Given the description of an element on the screen output the (x, y) to click on. 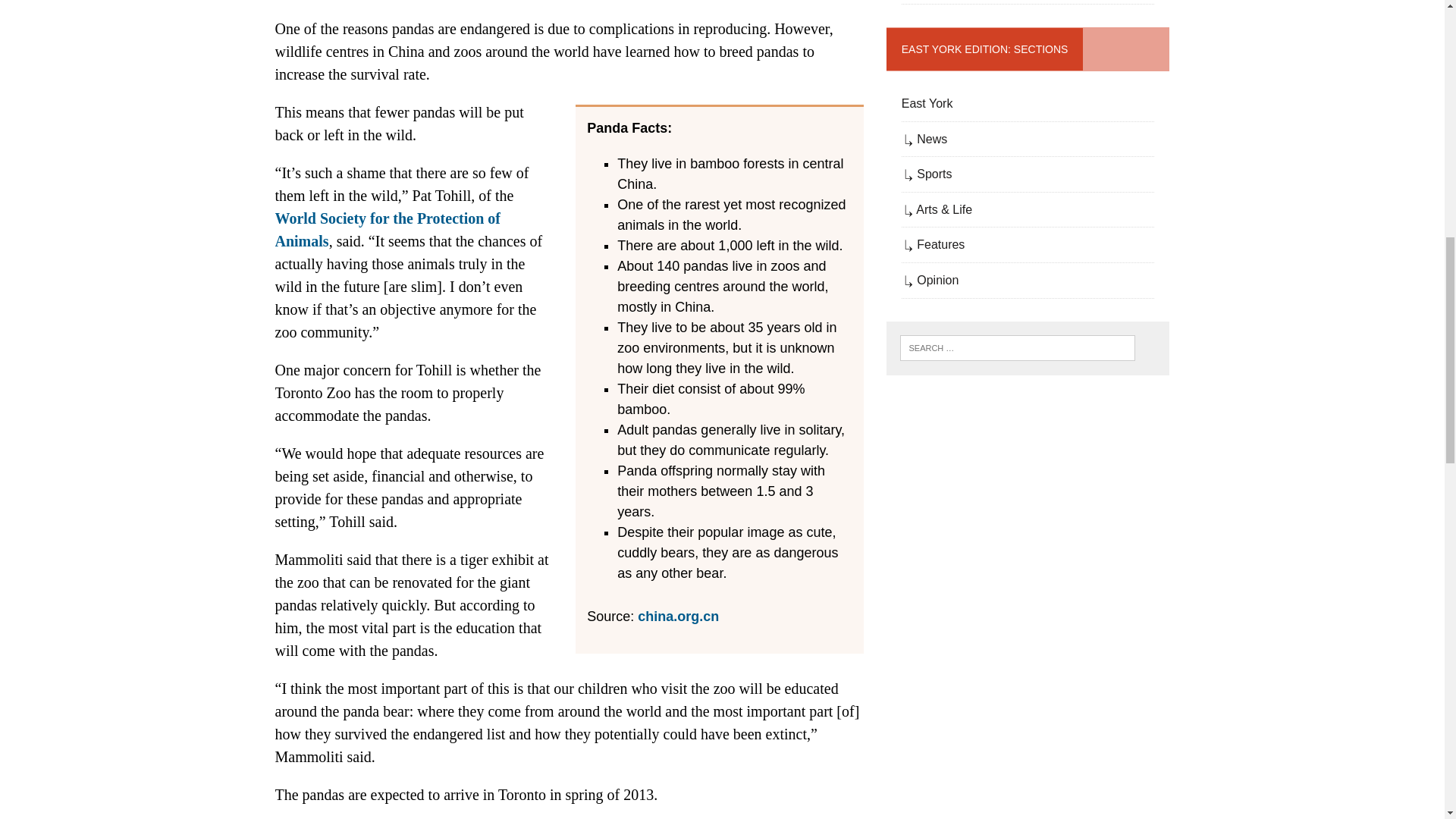
WSPA (387, 229)
